Given the description of an element on the screen output the (x, y) to click on. 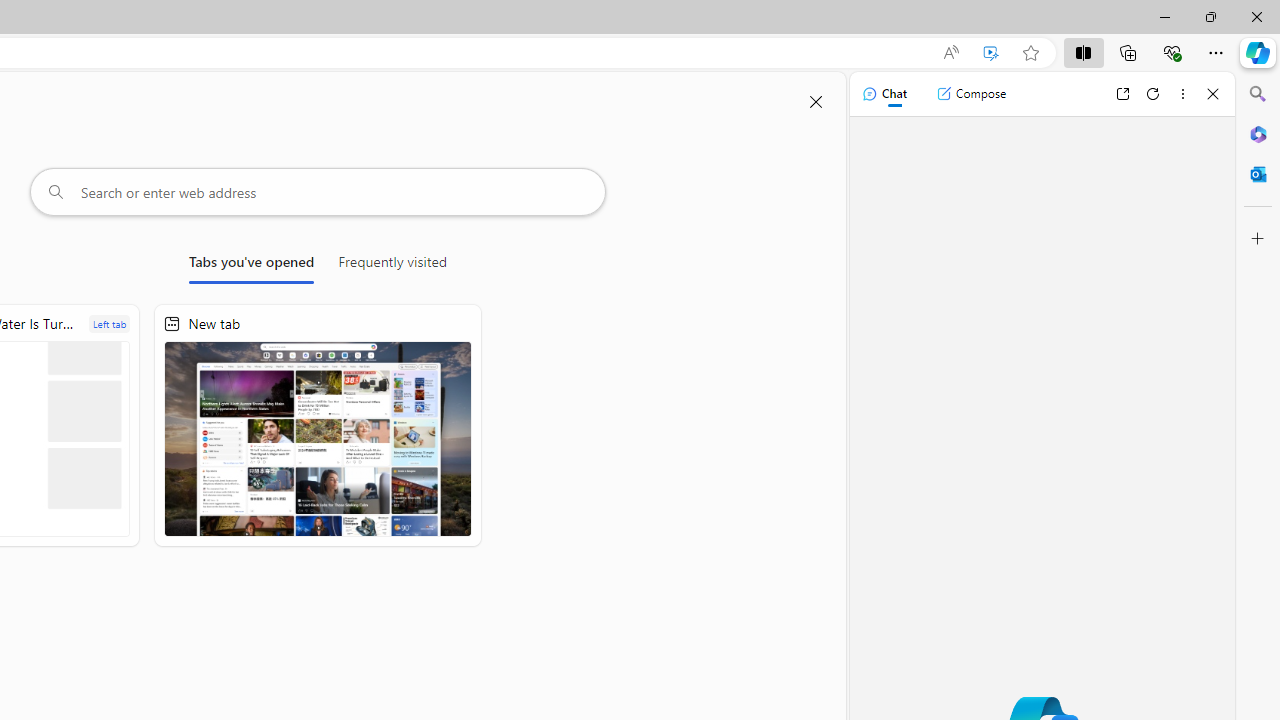
Tabs you've opened (251, 265)
Search or enter web address (317, 191)
Open link in new tab (1122, 93)
Enhance video (991, 53)
